Given the description of an element on the screen output the (x, y) to click on. 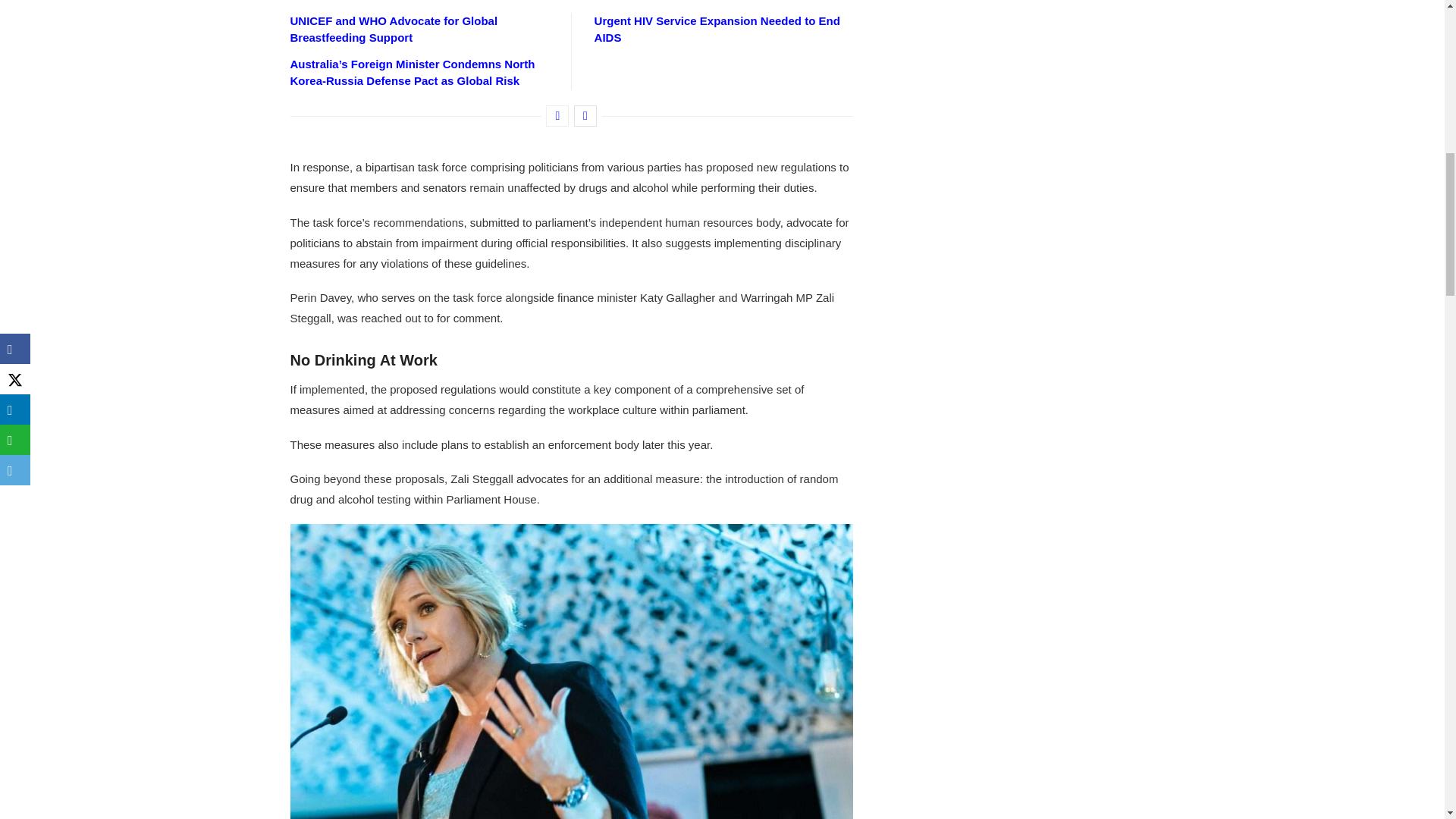
Previous (557, 115)
Next (584, 115)
